Given the description of an element on the screen output the (x, y) to click on. 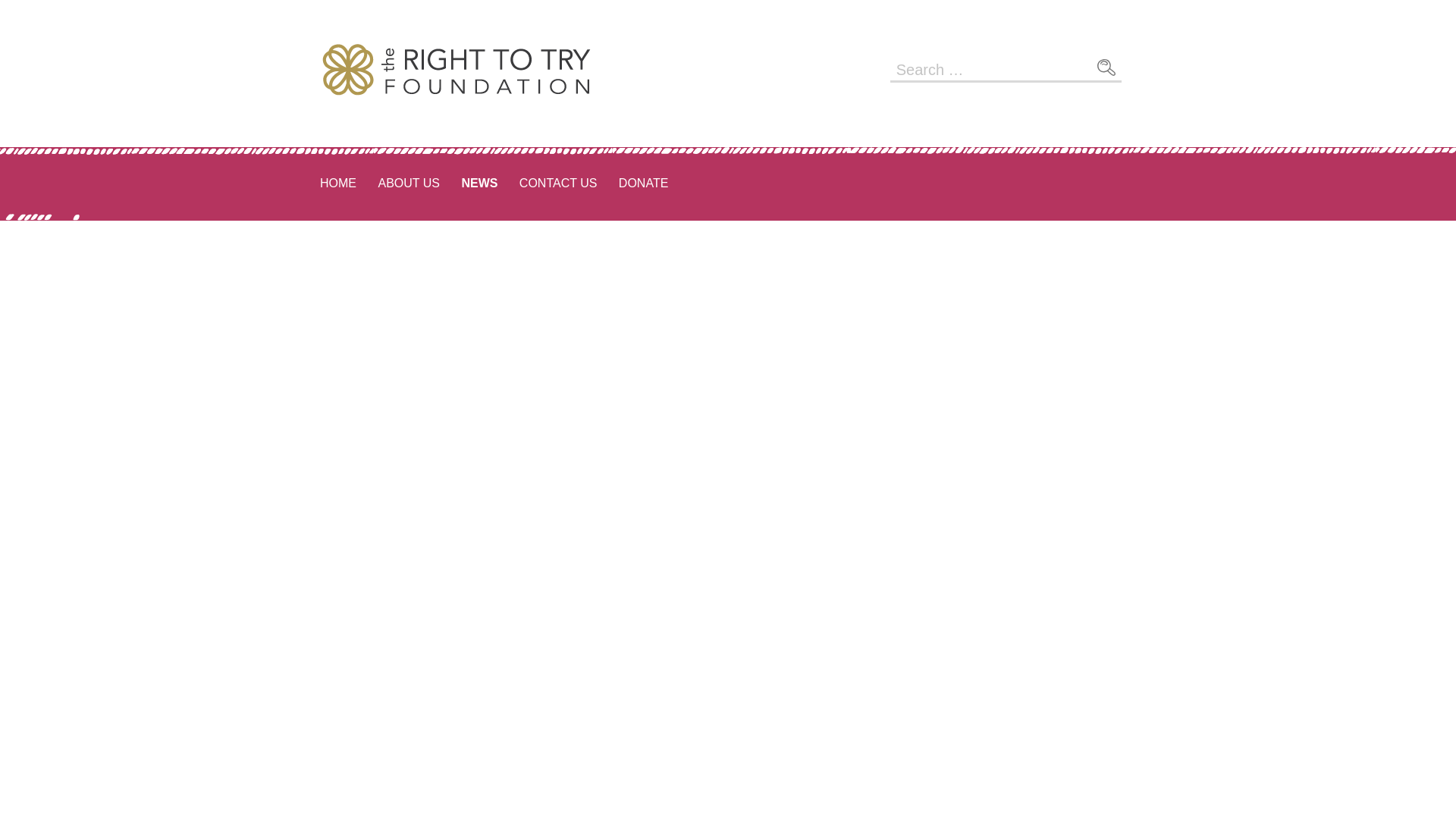
Search (1105, 67)
CONTACT US (559, 183)
DONATE (643, 183)
ABOUT US (408, 183)
NEWS (478, 183)
Search (1105, 67)
Search (1105, 67)
The Right To Try Foundation (466, 143)
HOME (338, 183)
